Given the description of an element on the screen output the (x, y) to click on. 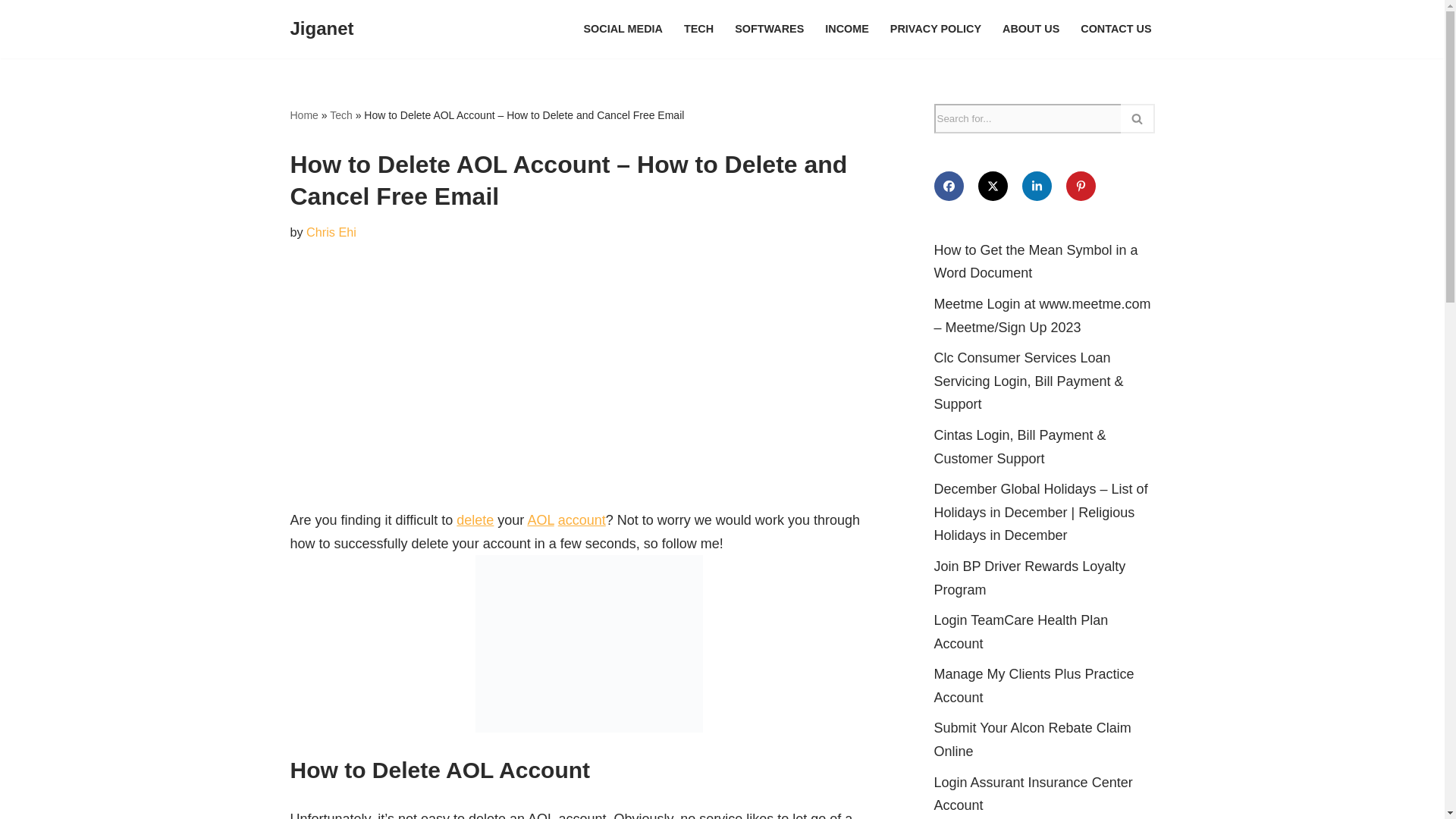
Skip to content (11, 31)
Home (303, 114)
ABOUT US (1031, 28)
Advertisement (588, 395)
SOFTWARES (769, 28)
account (581, 519)
CONTACT US (1115, 28)
Jiganet (321, 29)
PRIVACY POLICY (935, 28)
Tech (341, 114)
